Given the description of an element on the screen output the (x, y) to click on. 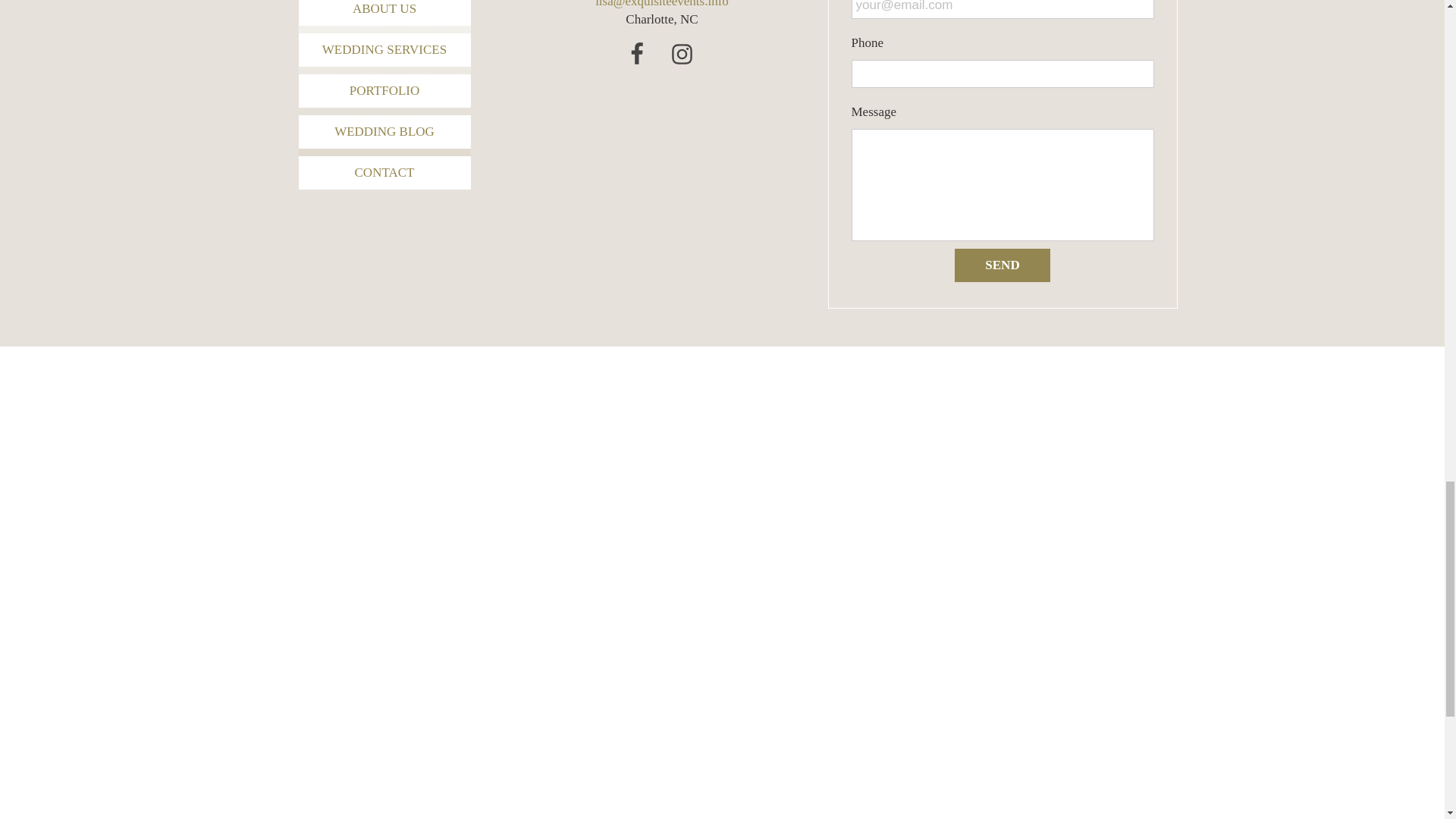
PORTFOLIO (384, 90)
ABOUT US (384, 12)
CONTACT (384, 172)
WEDDING BLOG (384, 131)
WEDDING SERVICES (384, 49)
